Given the description of an element on the screen output the (x, y) to click on. 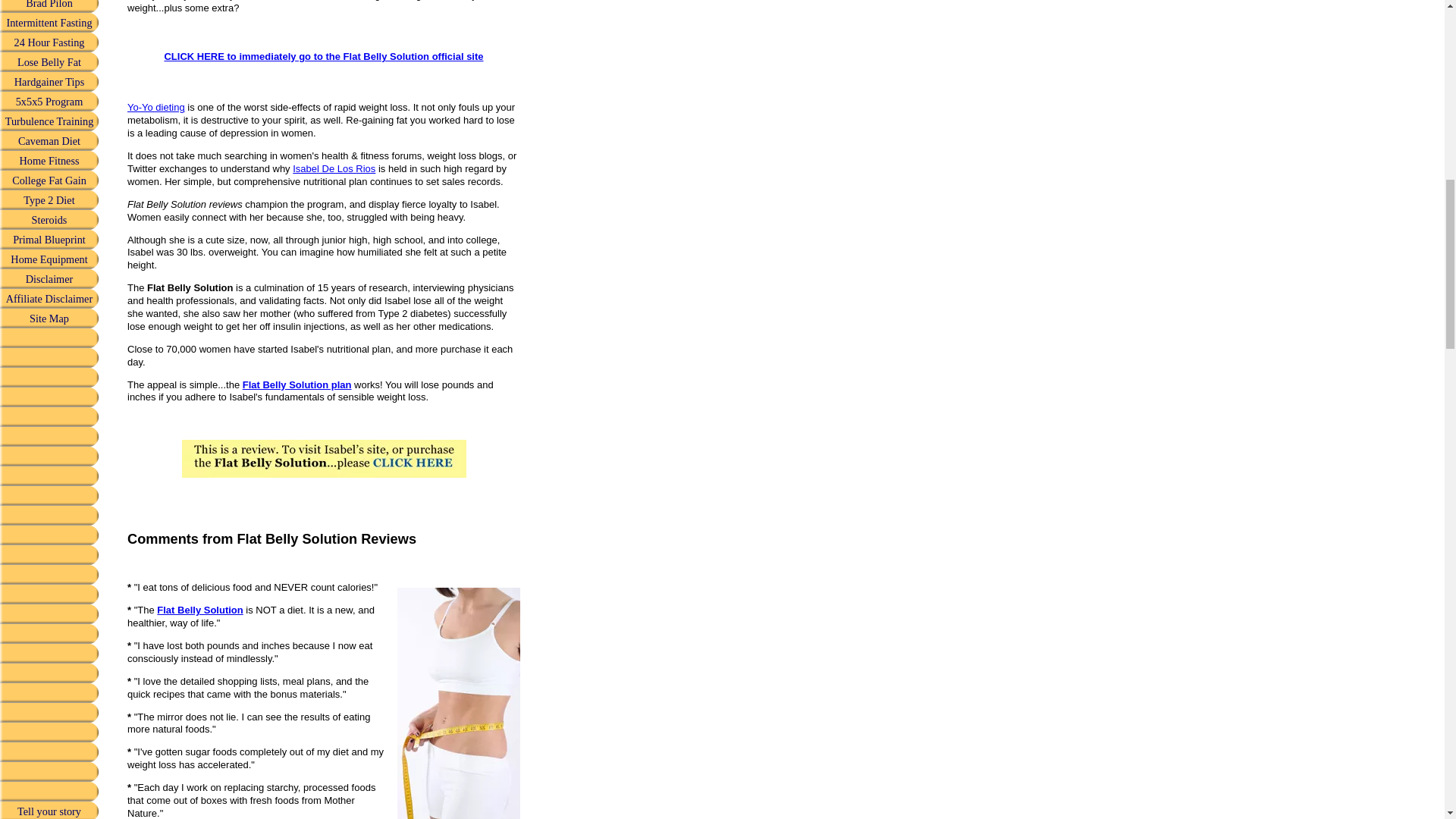
24 Hour Fasting (49, 42)
Intermittent Fasting (49, 22)
Brad Pilon (49, 6)
Turbulence Training (49, 121)
Lose Belly Fat (49, 62)
Caveman Diet (49, 140)
Hardgainer Tips (49, 81)
5x5x5 Program (49, 101)
